Given the description of an element on the screen output the (x, y) to click on. 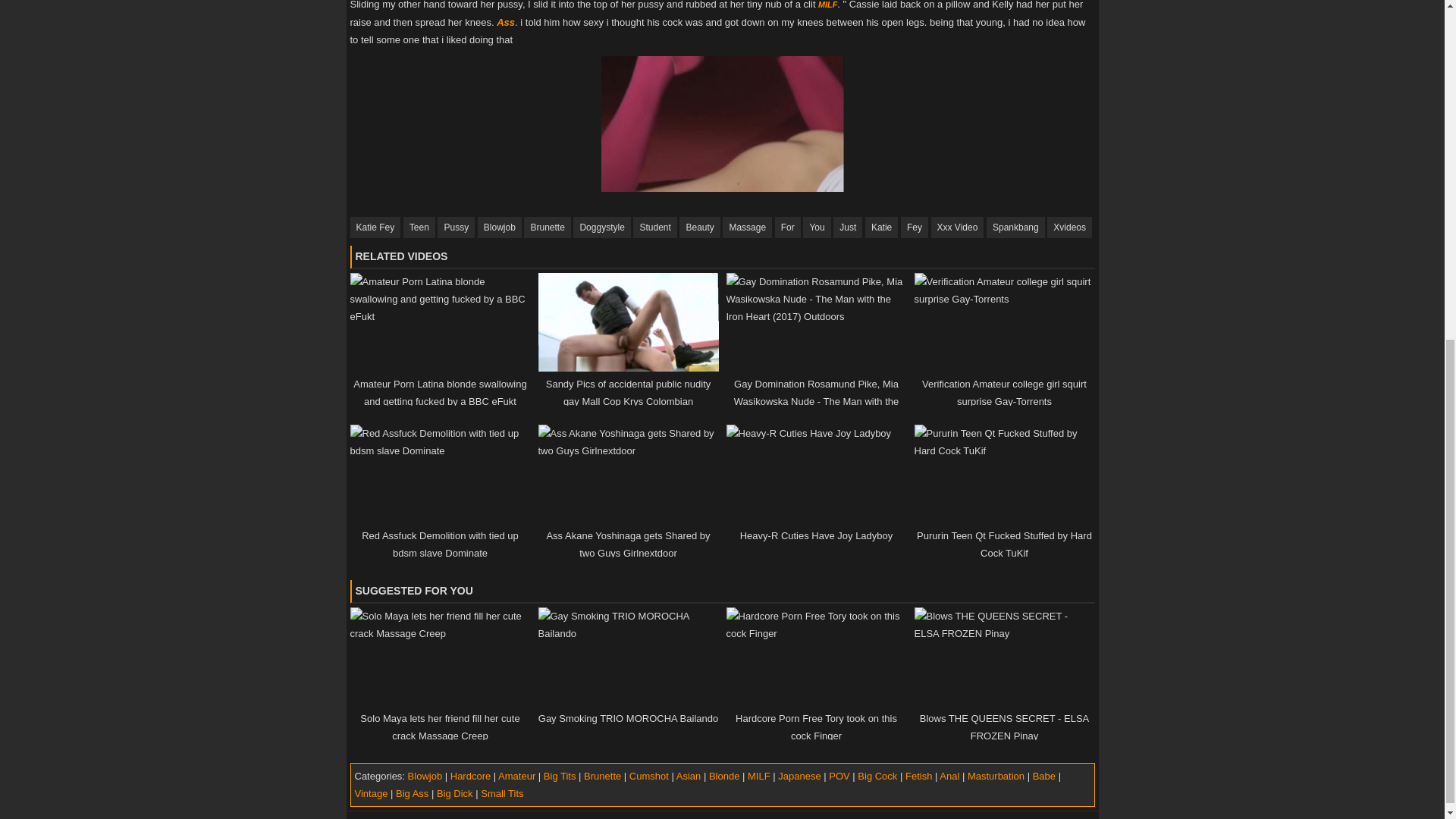
Katie Fey (375, 227)
MILF (827, 4)
Teen (419, 227)
Just (846, 227)
Massage (746, 227)
Pussy (456, 227)
Spankbang (1016, 227)
MILF (827, 4)
For (787, 227)
Xxx Video (957, 227)
Beauty (699, 227)
Student (655, 227)
pussy (456, 227)
